Given the description of an element on the screen output the (x, y) to click on. 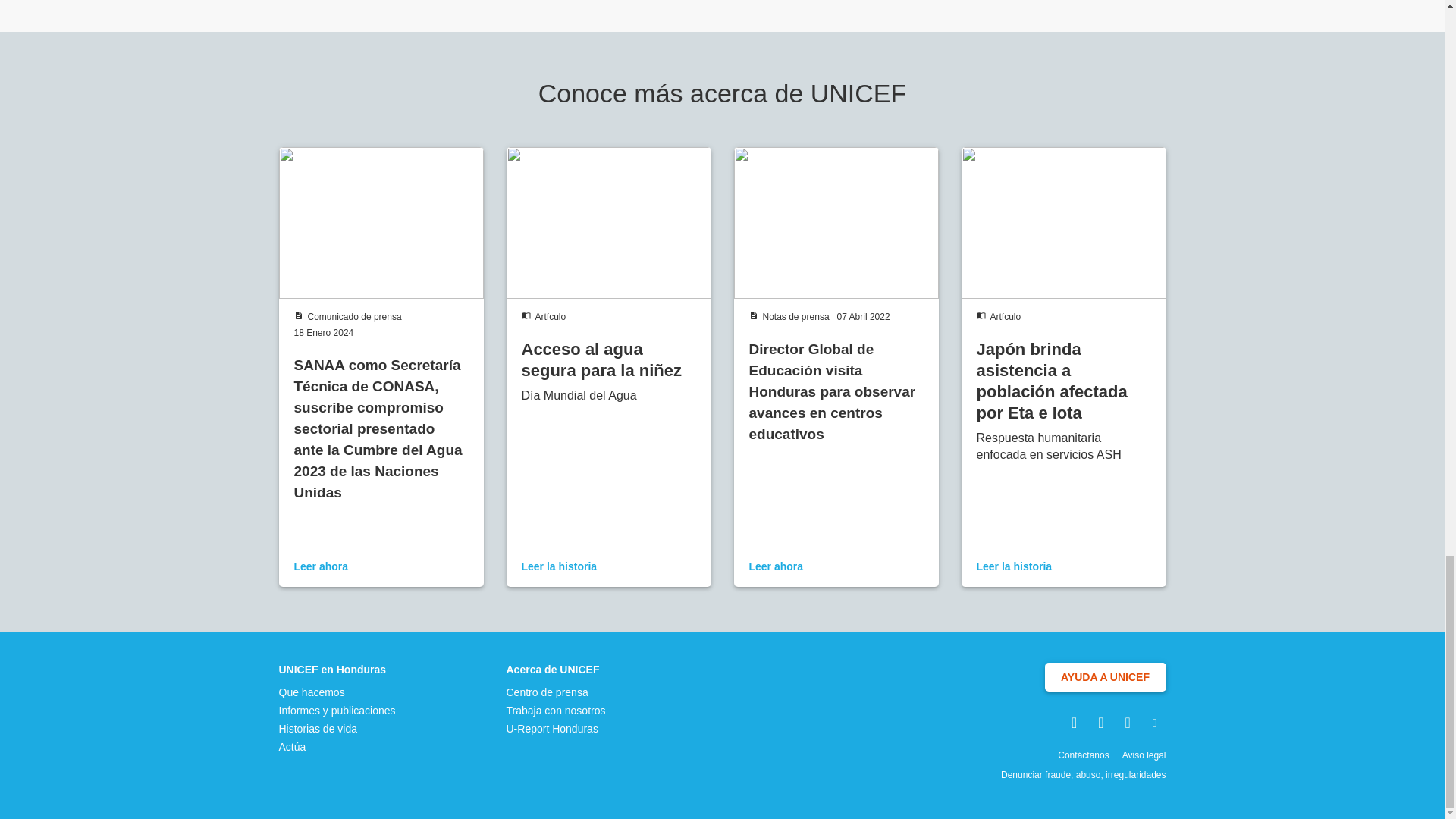
Trabaja con nosotros (555, 710)
Centro de prensa (555, 692)
UNICEF en Honduras (337, 669)
UNICEF en Honduras (337, 669)
Que hacemos (337, 692)
Historias de vida (337, 728)
Que hacemos (337, 692)
Informes y publicaciones (337, 710)
Informes y publicaciones (337, 710)
Acerca de UNICEF (555, 669)
